Given the description of an element on the screen output the (x, y) to click on. 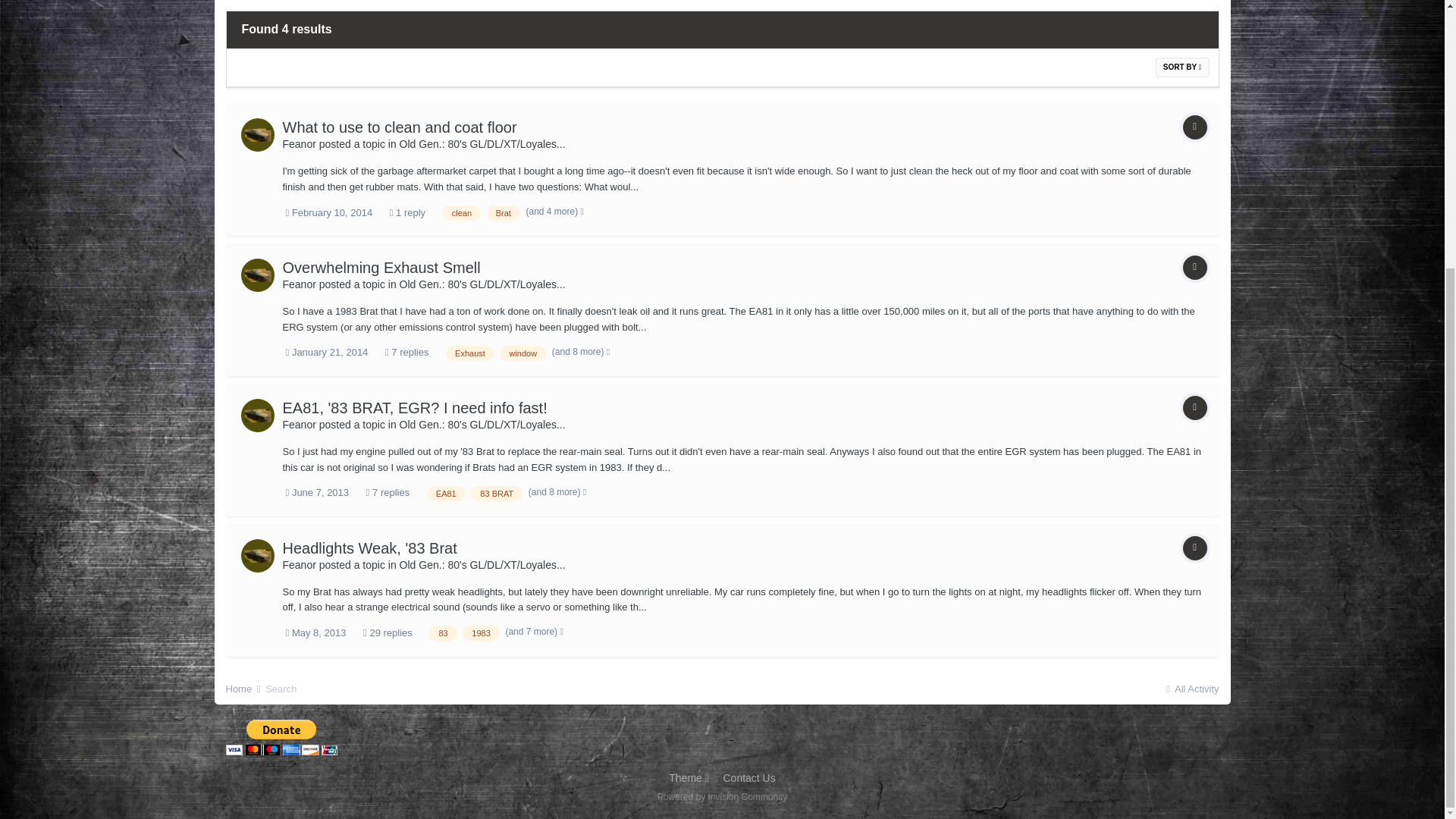
Find other content tagged with 'clean' (461, 212)
Go to Feanor's profile (258, 274)
Topic (1194, 127)
Go to Feanor's profile (258, 134)
Go to Feanor's profile (298, 143)
Find other content tagged with 'Brat' (502, 212)
Go to Feanor's profile (298, 284)
Topic (1194, 267)
